Given the description of an element on the screen output the (x, y) to click on. 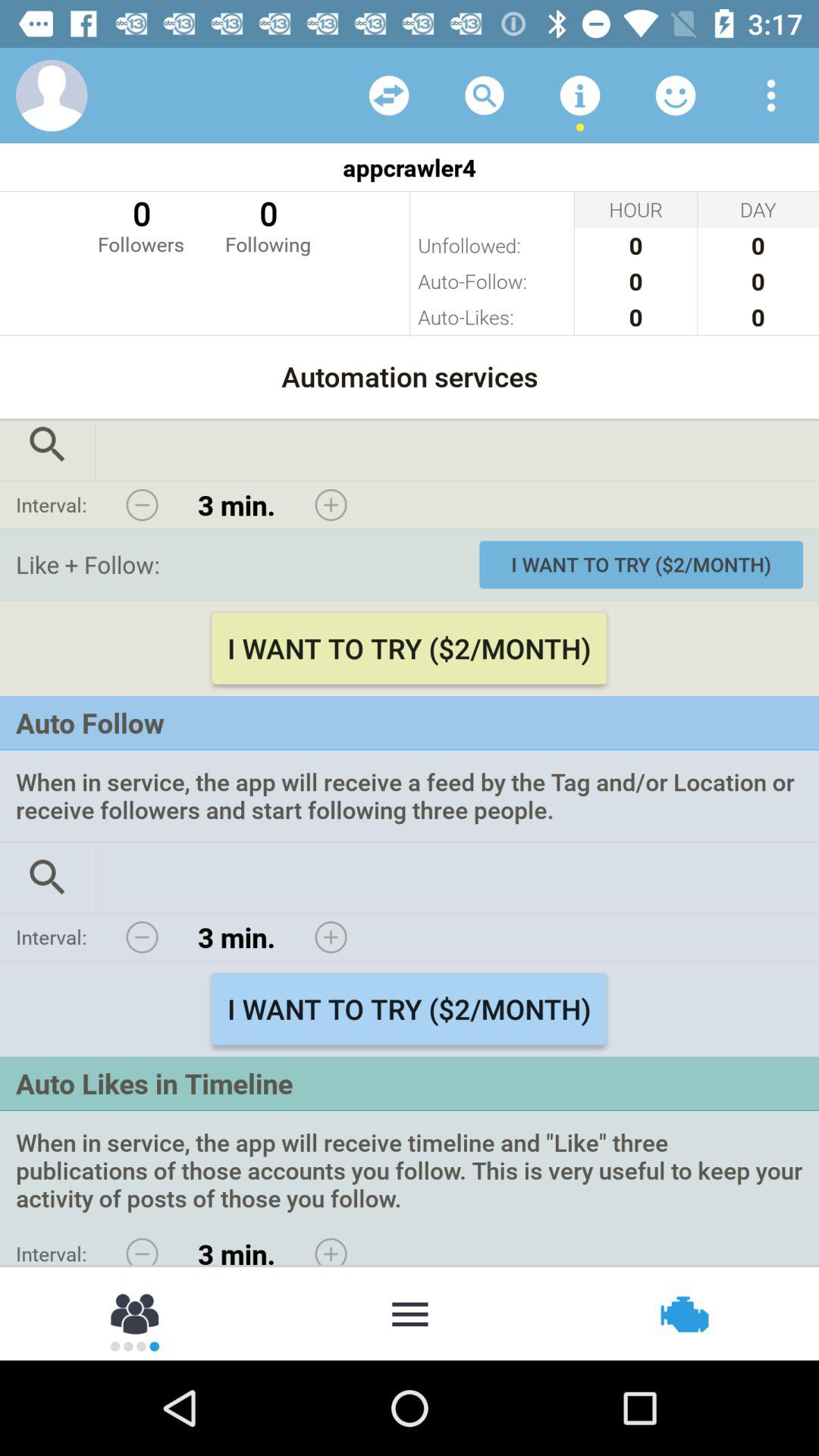
decrease time interval (142, 504)
